Given the description of an element on the screen output the (x, y) to click on. 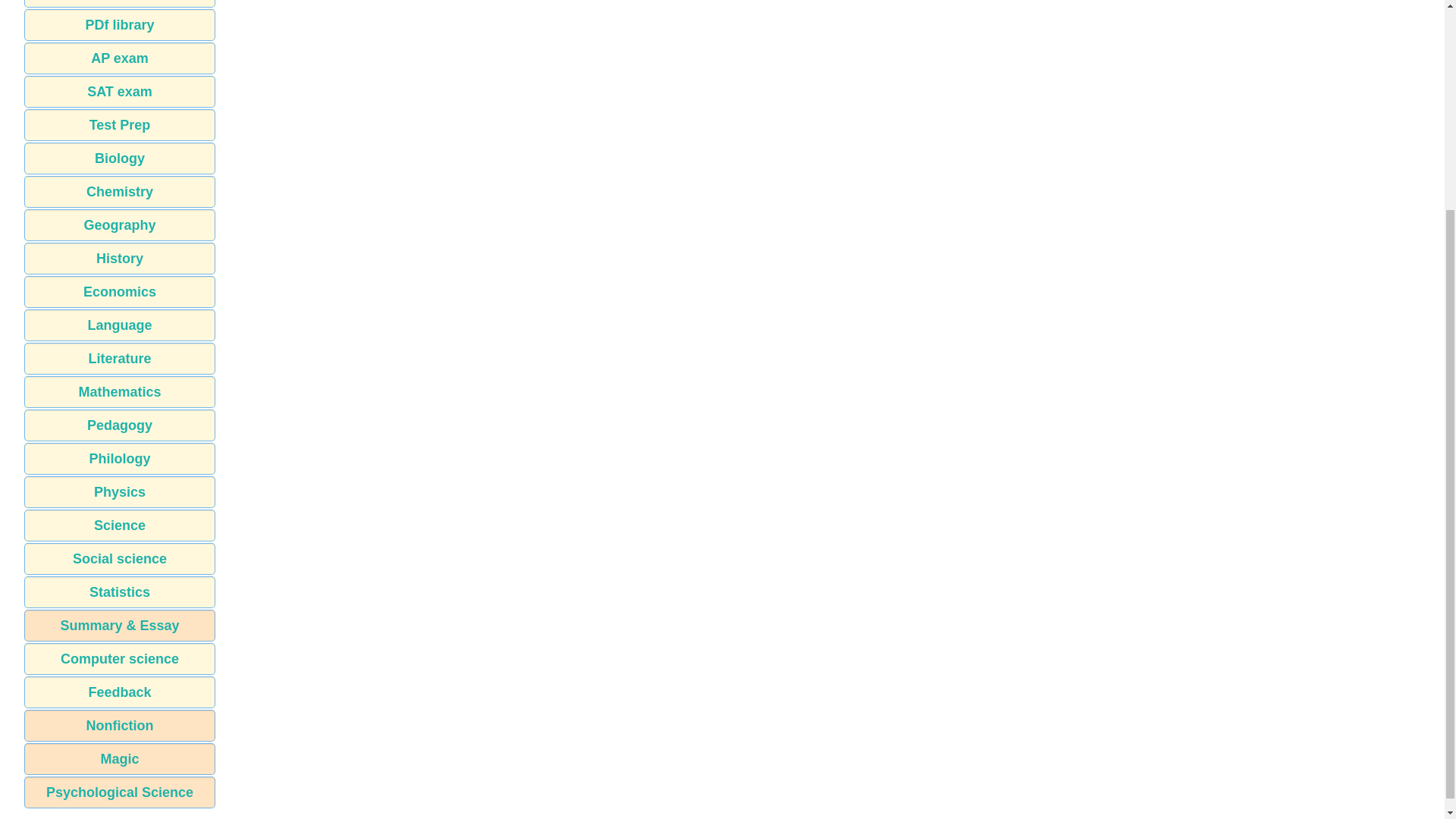
Magic (119, 758)
Pedagogy (119, 425)
SAT exam (119, 91)
Psychological Science (119, 792)
Language (119, 325)
Biology (119, 158)
Literature (119, 358)
Feedback (119, 692)
Statistics (119, 592)
Economics (119, 291)
Social science (119, 558)
Computer science (119, 658)
PDf library (119, 24)
Chemistry (119, 192)
Nonfiction (119, 726)
